Given the description of an element on the screen output the (x, y) to click on. 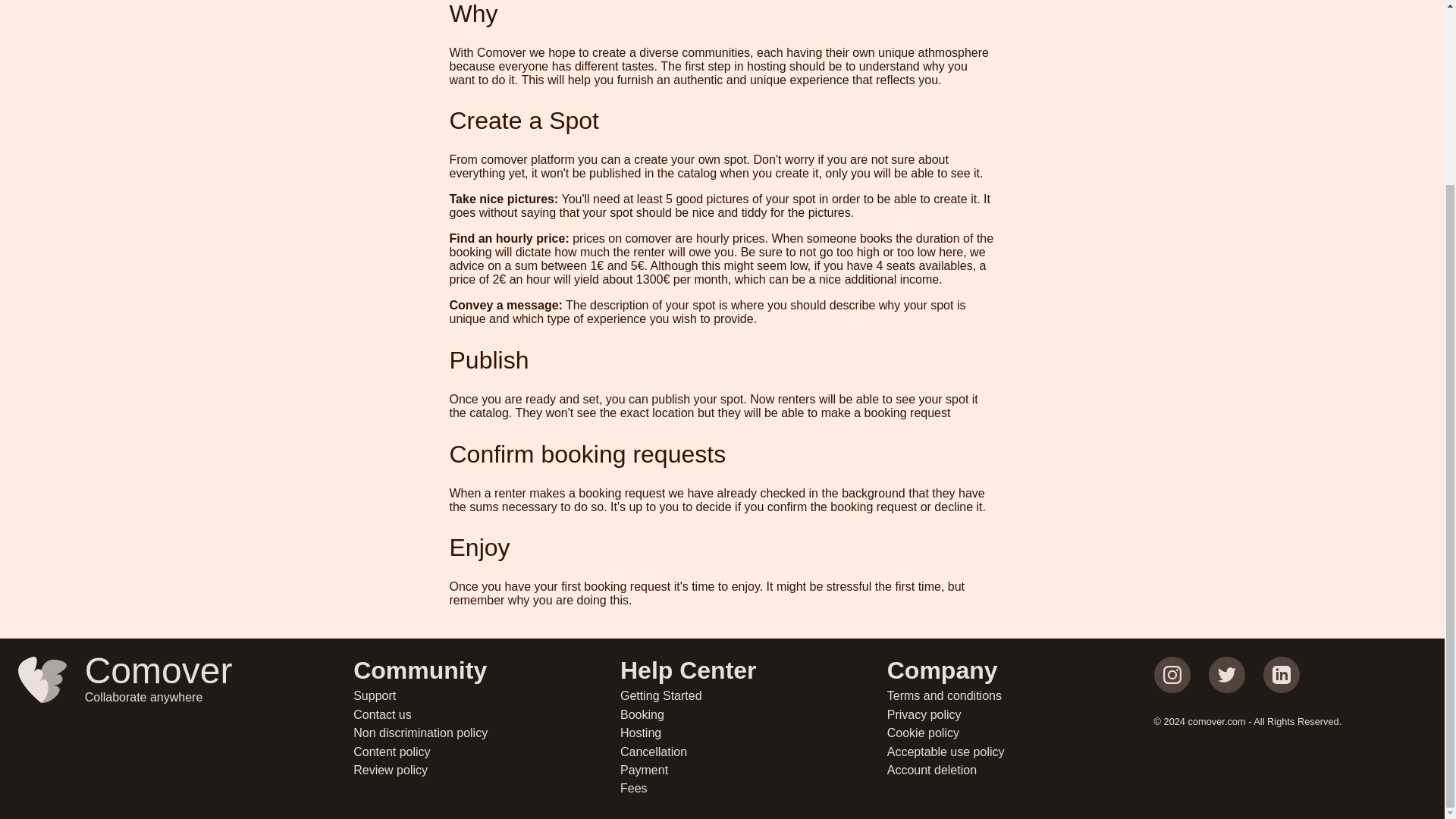
Acceptable use policy (1020, 752)
Payment (167, 725)
Contact us (753, 770)
Cancellation (486, 714)
Booking (753, 752)
Account deletion (753, 714)
Getting Started (1020, 770)
Support (753, 695)
Fees (486, 695)
Cookie policy (753, 788)
Review policy (1020, 733)
Non discrimination policy (486, 770)
Privacy policy (486, 733)
Terms and conditions (1020, 714)
